Given the description of an element on the screen output the (x, y) to click on. 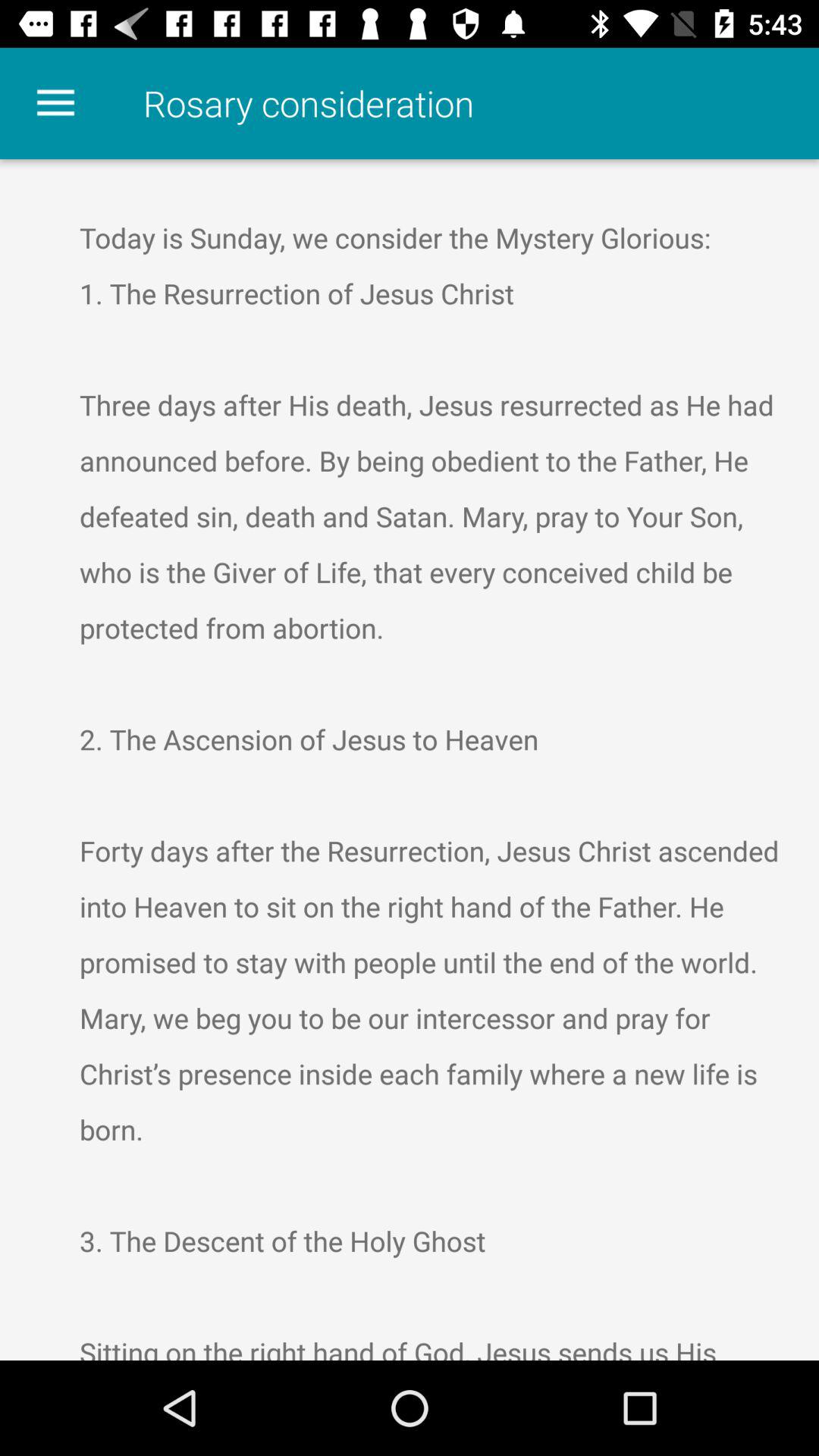
choose icon at the top left corner (55, 103)
